Given the description of an element on the screen output the (x, y) to click on. 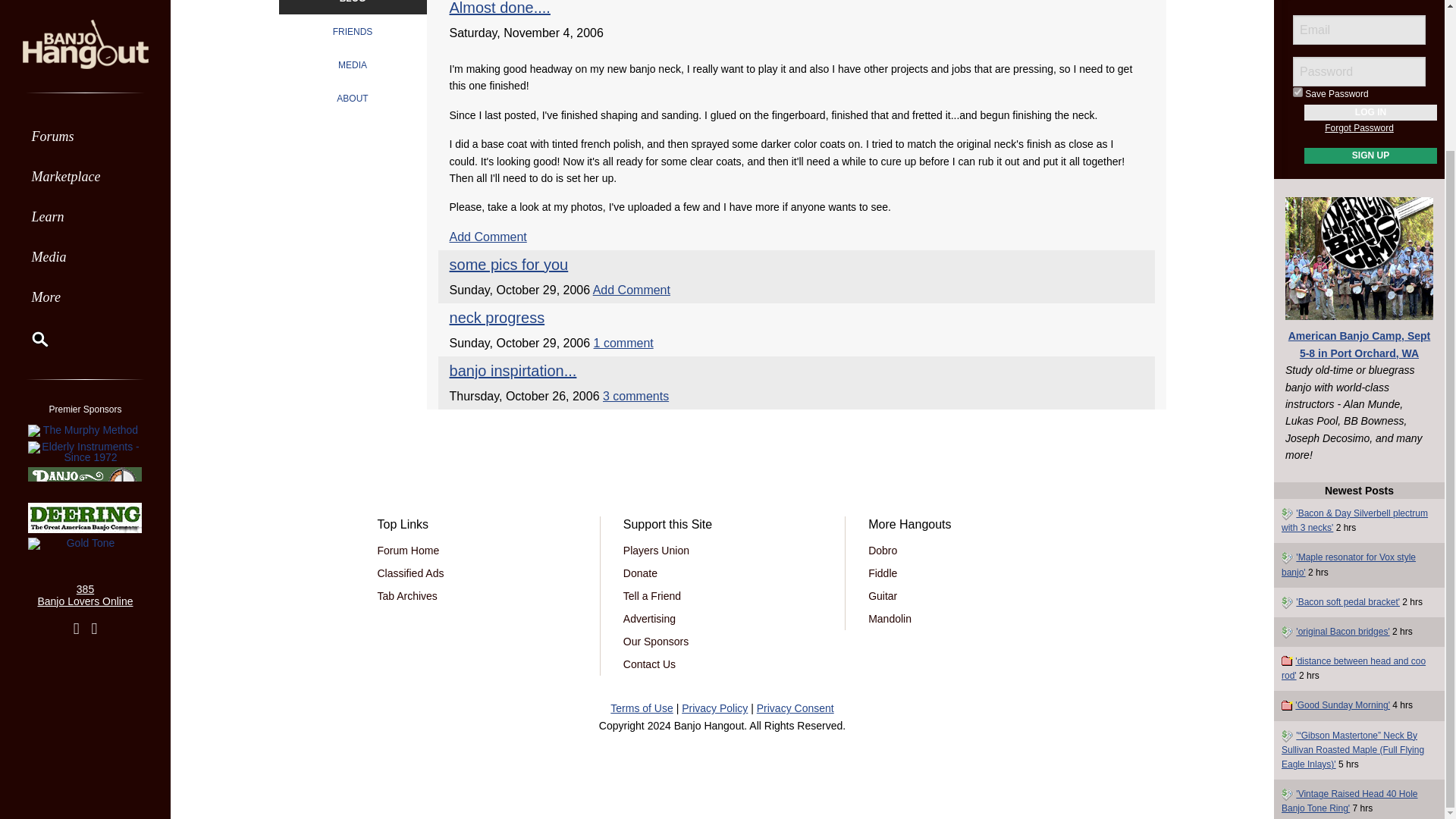
The Murphy Method (84, 256)
Deering Banjos (84, 343)
Elderly Instruments - Since 1972 (84, 278)
Gold Tone (84, 370)
Marketplace (85, 11)
Banjo Bolster Tone Enhancer (84, 308)
